Given the description of an element on the screen output the (x, y) to click on. 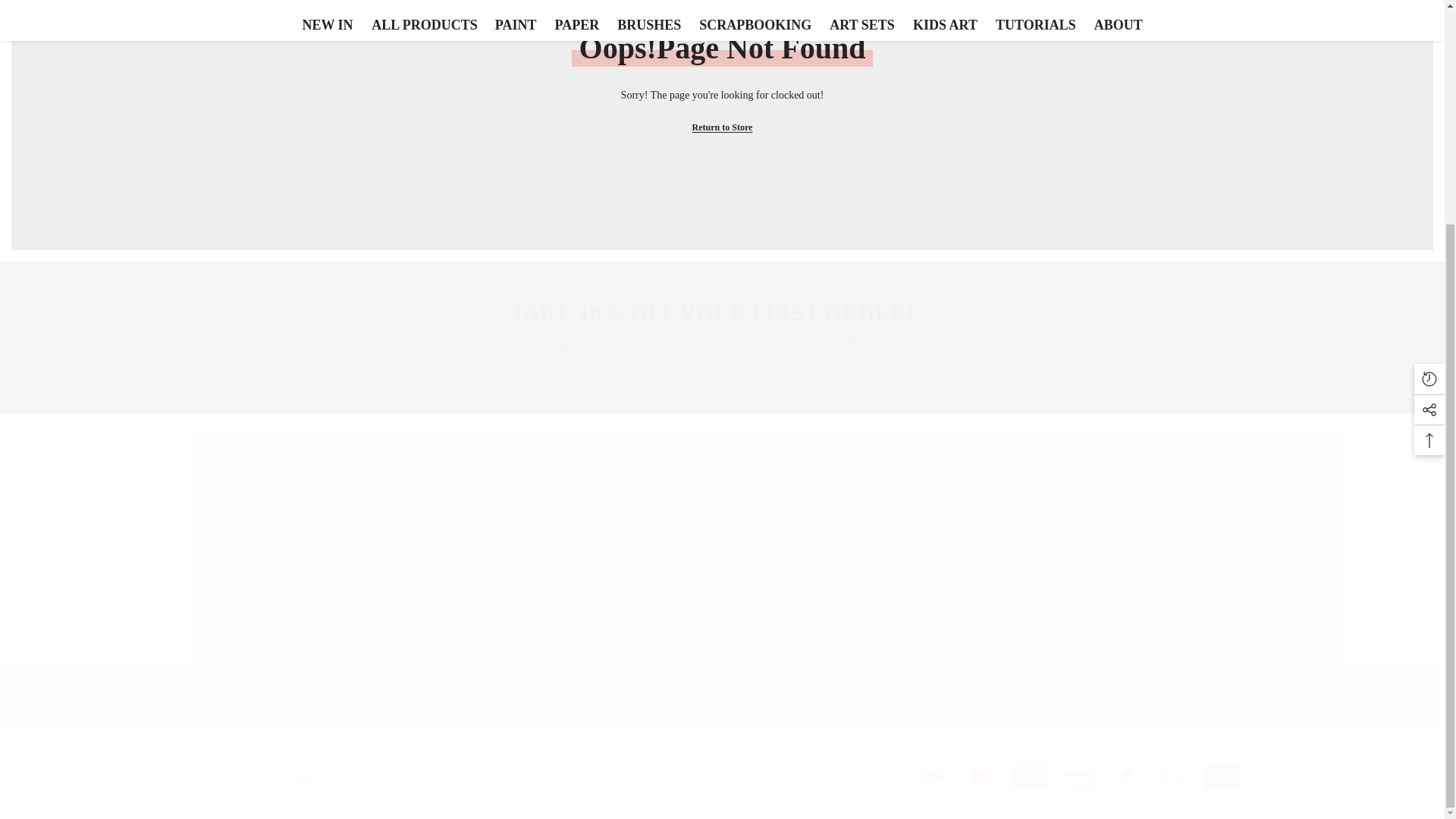
PayPal (1125, 776)
American Express (1029, 776)
Discover (1077, 776)
Visa (933, 776)
Google Pay (1173, 776)
Shop Pay (1222, 776)
Mastercard (981, 776)
